Given the description of an element on the screen output the (x, y) to click on. 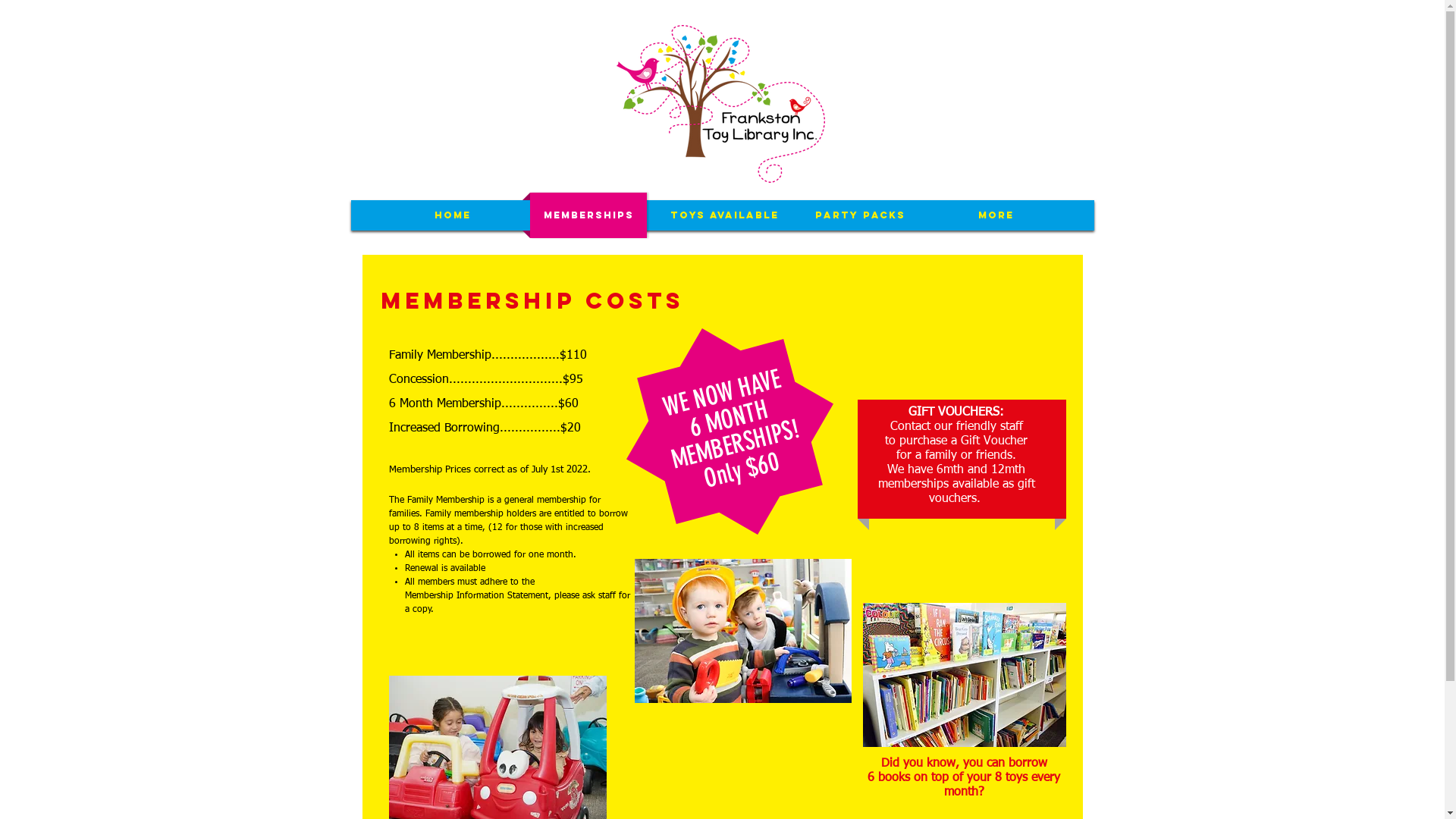
MEMBERSHIPS Element type: text (588, 215)
Frankston Toy Library April 2022 by Mark(28).jpg Element type: hover (741, 630)
toy library books.jpg Element type: hover (964, 674)
TOYS AVAILABLE Element type: text (724, 215)
HOME Element type: text (452, 215)
PARTY PACKS Element type: text (859, 215)
FTL logo 150mm x 150mm.png Element type: hover (719, 103)
